Given the description of an element on the screen output the (x, y) to click on. 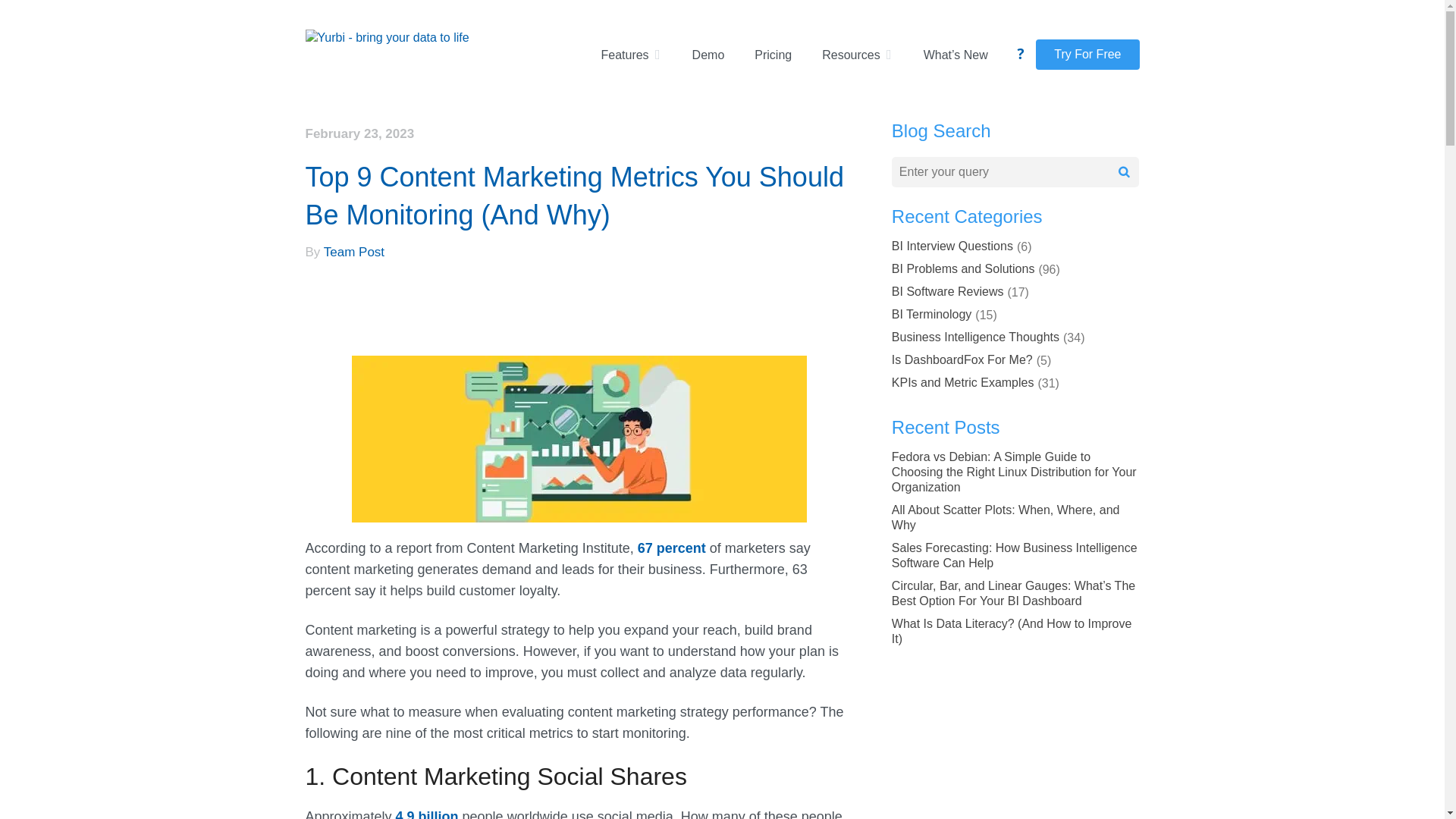
DashboardFox (386, 37)
4.9 billion (427, 814)
Posts by Team Post (353, 251)
67 percent (671, 548)
Team Post (353, 251)
Features (630, 55)
Try For Free (1086, 54)
Pricing (773, 55)
Resources (857, 55)
Demo (709, 55)
